Given the description of an element on the screen output the (x, y) to click on. 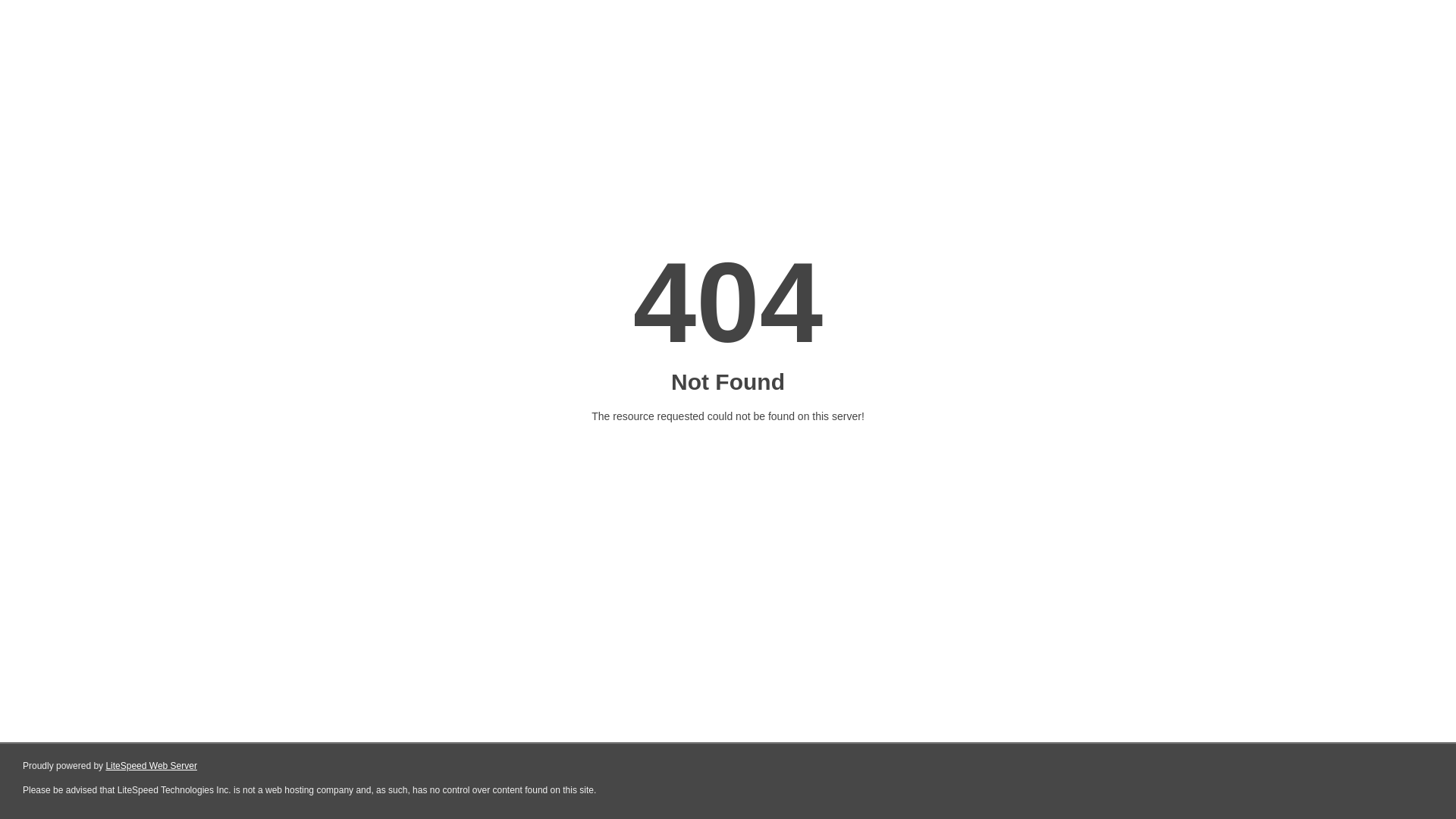
LiteSpeed Web Server Element type: text (151, 765)
